Given the description of an element on the screen output the (x, y) to click on. 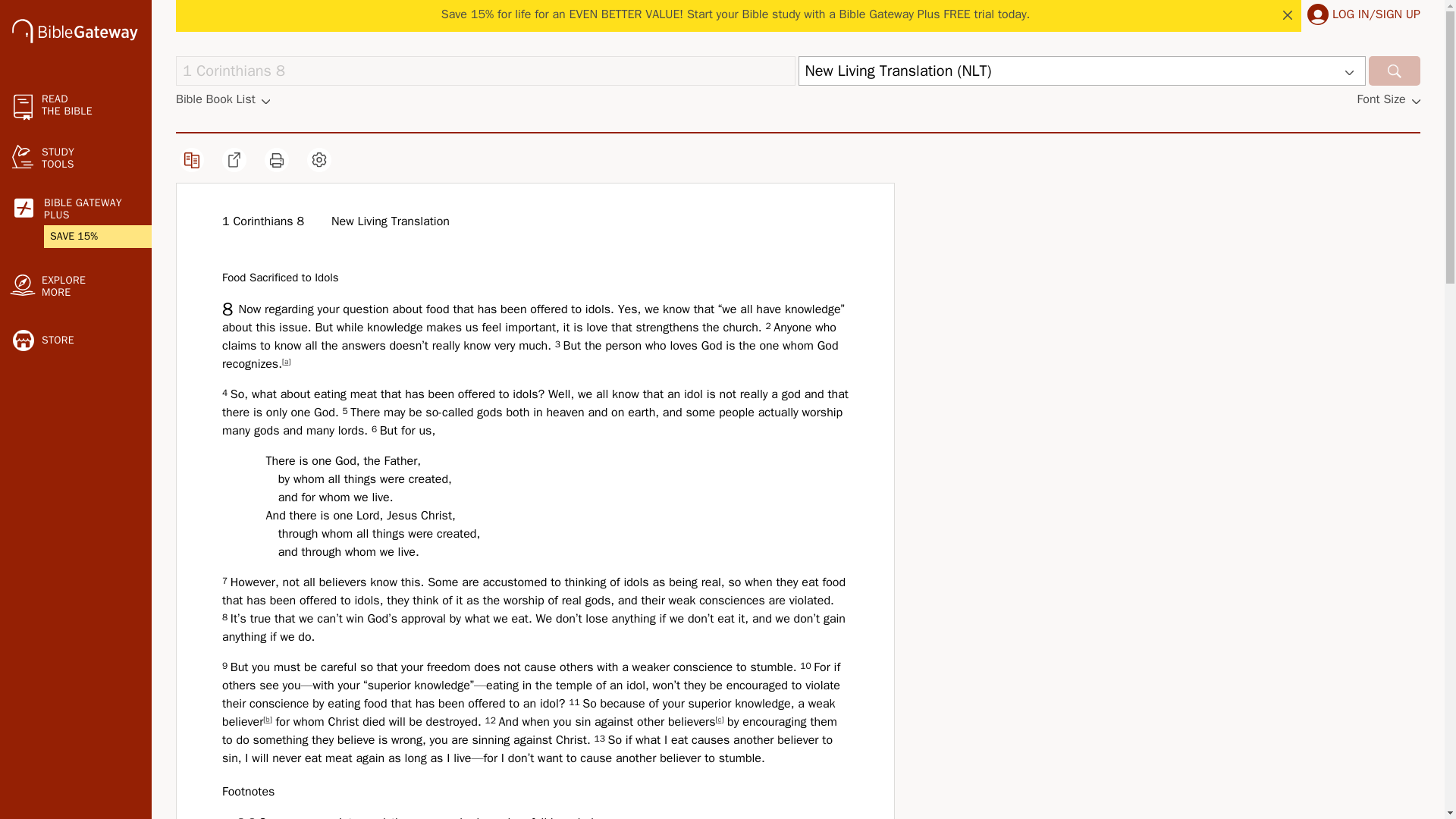
Go to 1 Corinthians 8:3 (246, 816)
1 Corinthians 8 (485, 70)
close (1287, 14)
Search (1394, 70)
Bible Gateway logo (74, 32)
1 Corinthians 8 (485, 70)
Bible Gateway logo (74, 30)
Bible Book List (222, 99)
account (1317, 14)
8:3 (246, 816)
